Given the description of an element on the screen output the (x, y) to click on. 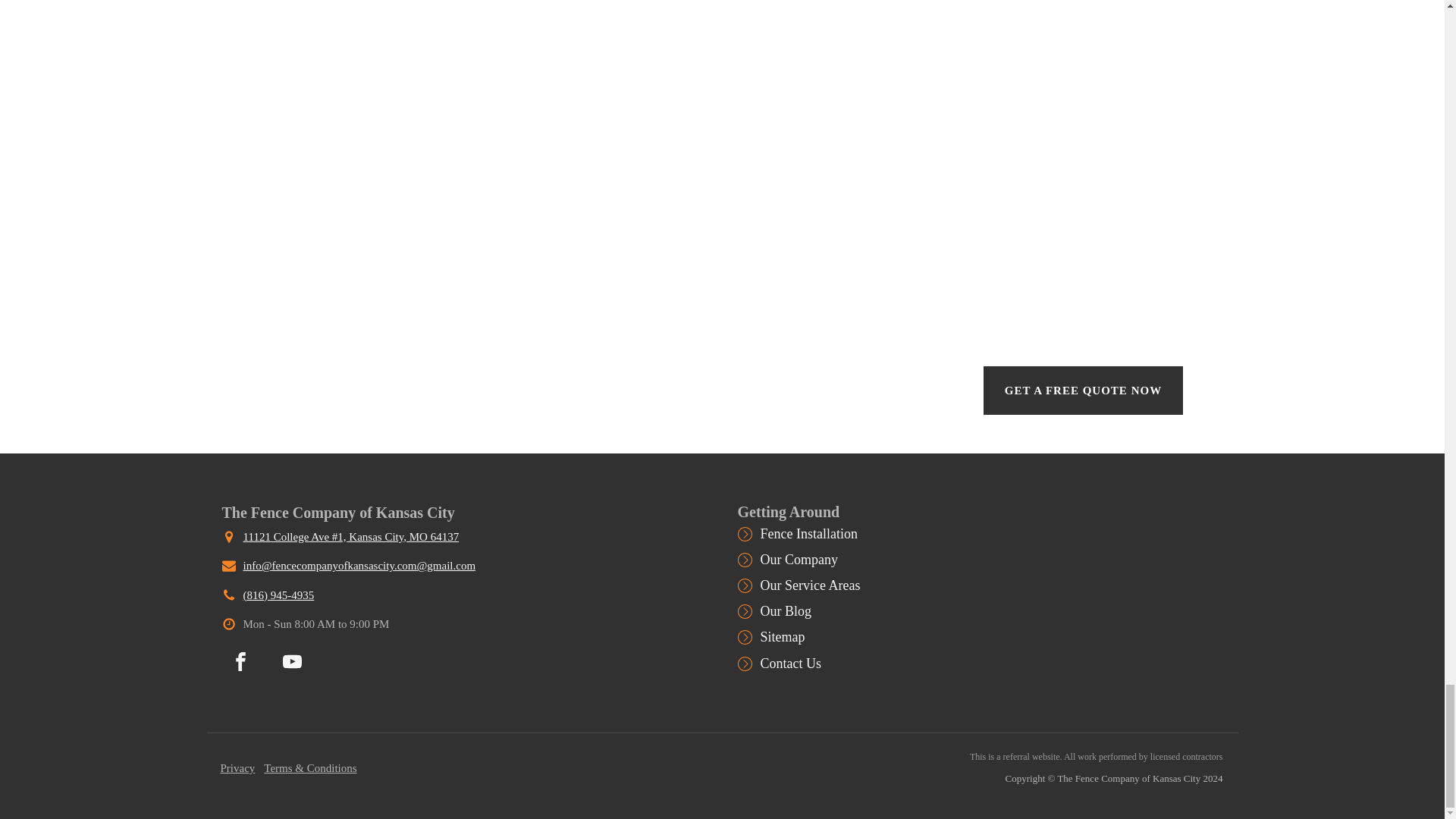
GET A FREE QUOTE NOW (1083, 390)
